Given the description of an element on the screen output the (x, y) to click on. 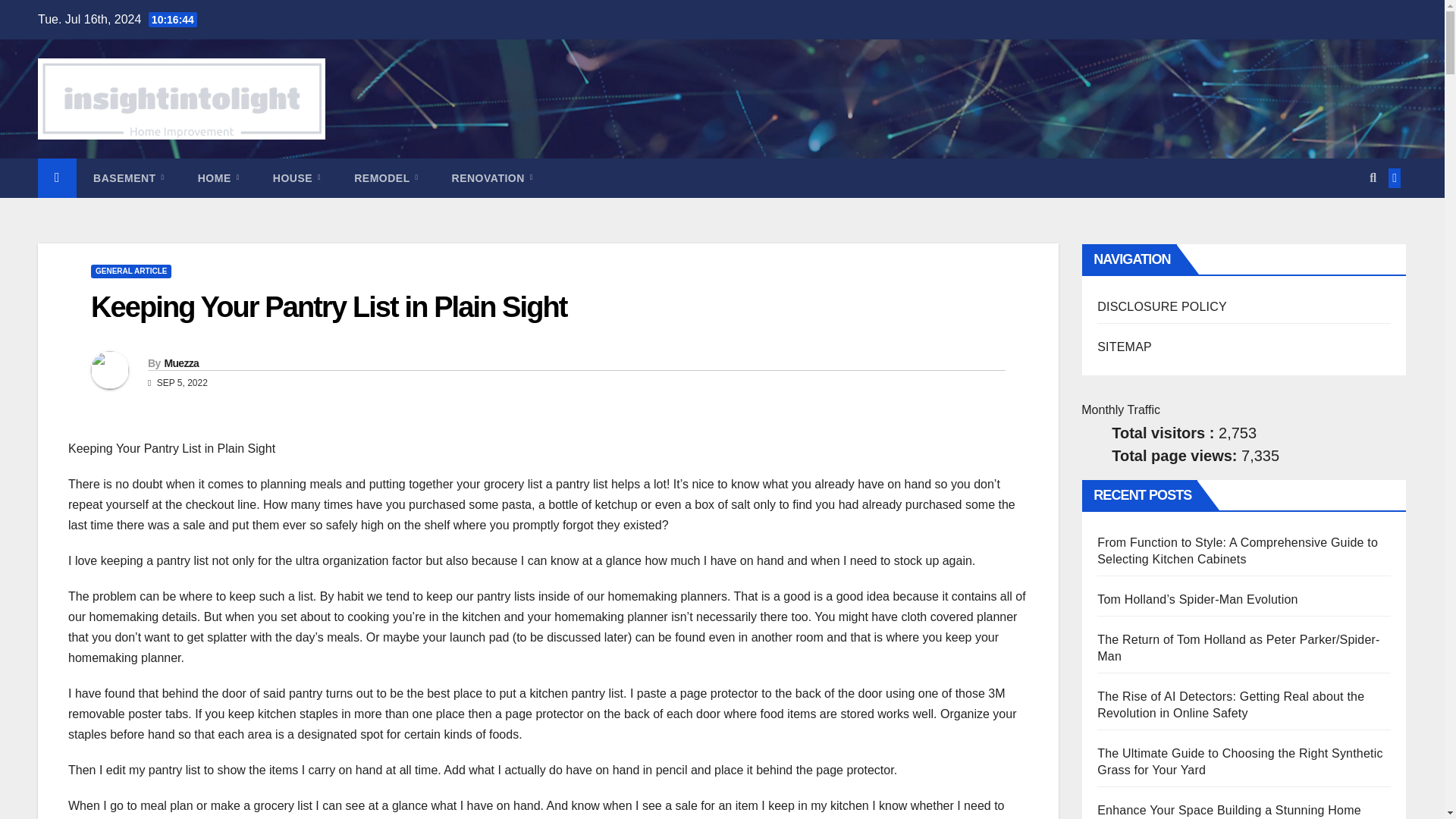
HOUSE (296, 178)
Home (218, 178)
Basement (128, 178)
BASEMENT (128, 178)
Keeping Your Pantry List in Plain Sight (328, 306)
Remodel (385, 178)
GENERAL ARTICLE (130, 271)
REMODEL (385, 178)
House (296, 178)
RENOVATION (492, 178)
HOME (218, 178)
